Given the description of an element on the screen output the (x, y) to click on. 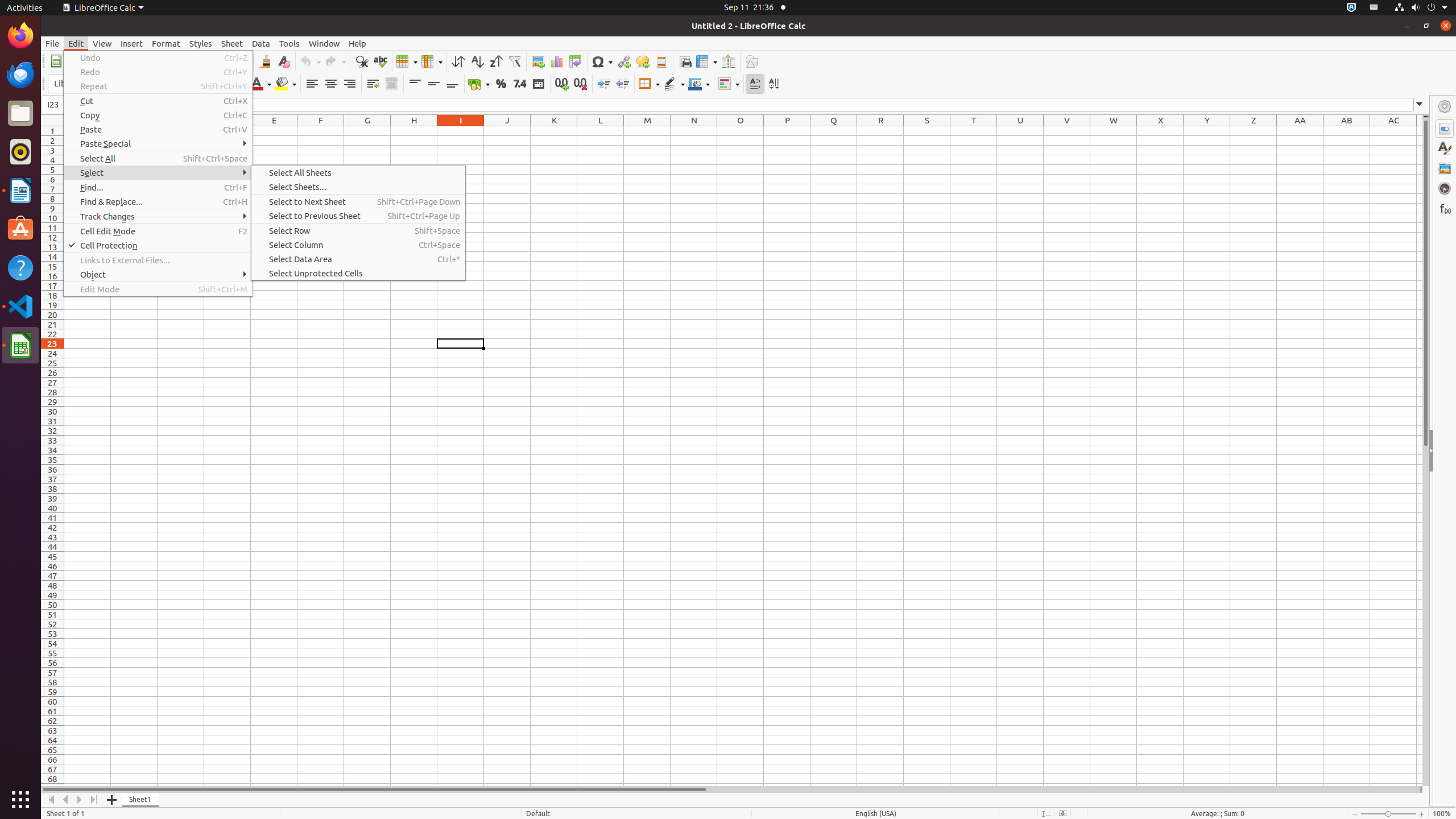
Sort Descending Element type: push-button (495, 61)
AB1 Element type: table-cell (1346, 130)
AC1 Element type: table-cell (1393, 130)
Find & Replace Element type: toggle-button (361, 61)
